Given the description of an element on the screen output the (x, y) to click on. 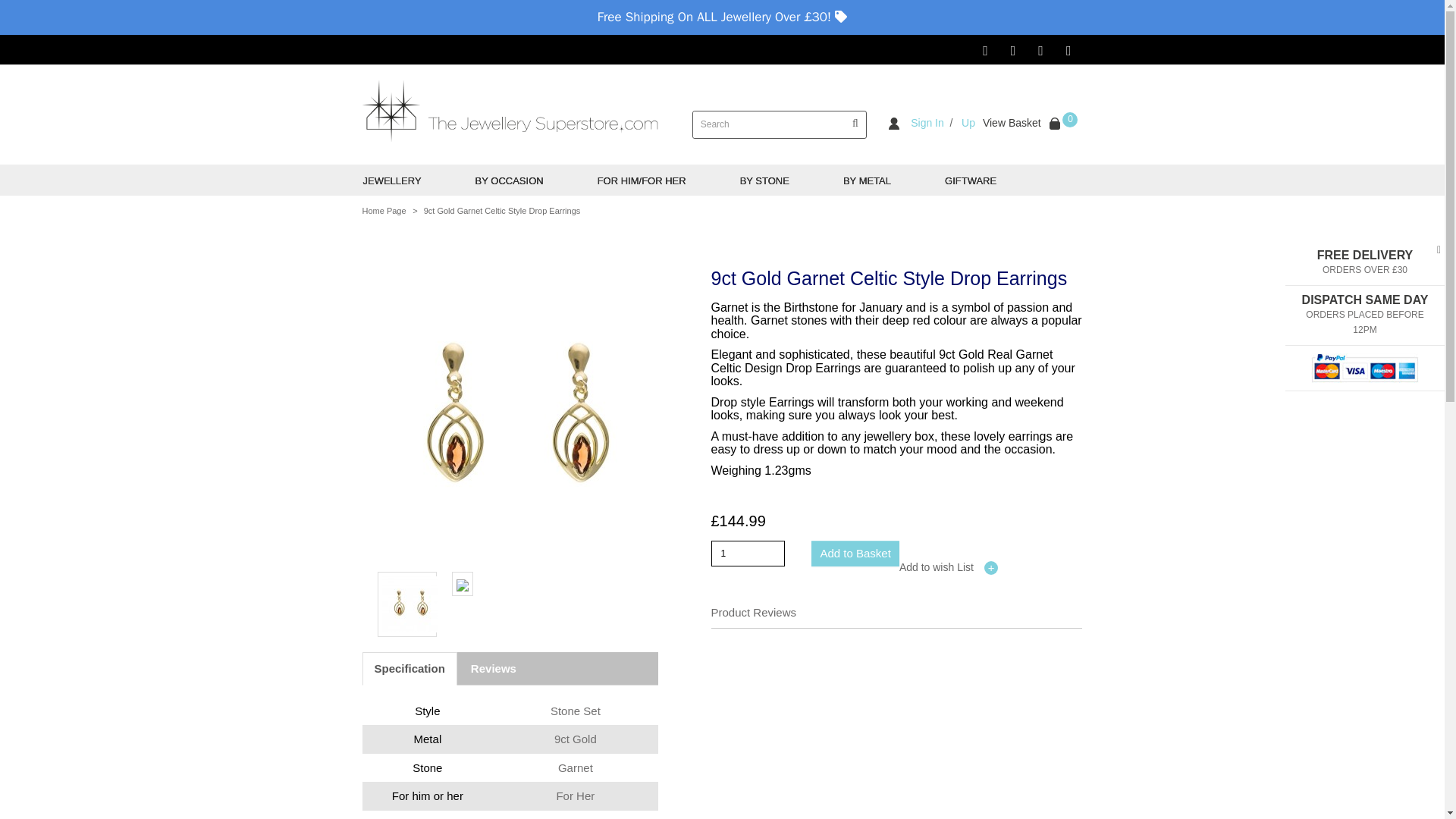
9ct Gold Garnet Celtic Style Drop Earrings (513, 419)
   Sign In (915, 122)
View Basket 0 (1030, 122)
1 (748, 553)
JEWELLERY (418, 179)
Up (966, 122)
Jewellery Superstore (510, 111)
